Given the description of an element on the screen output the (x, y) to click on. 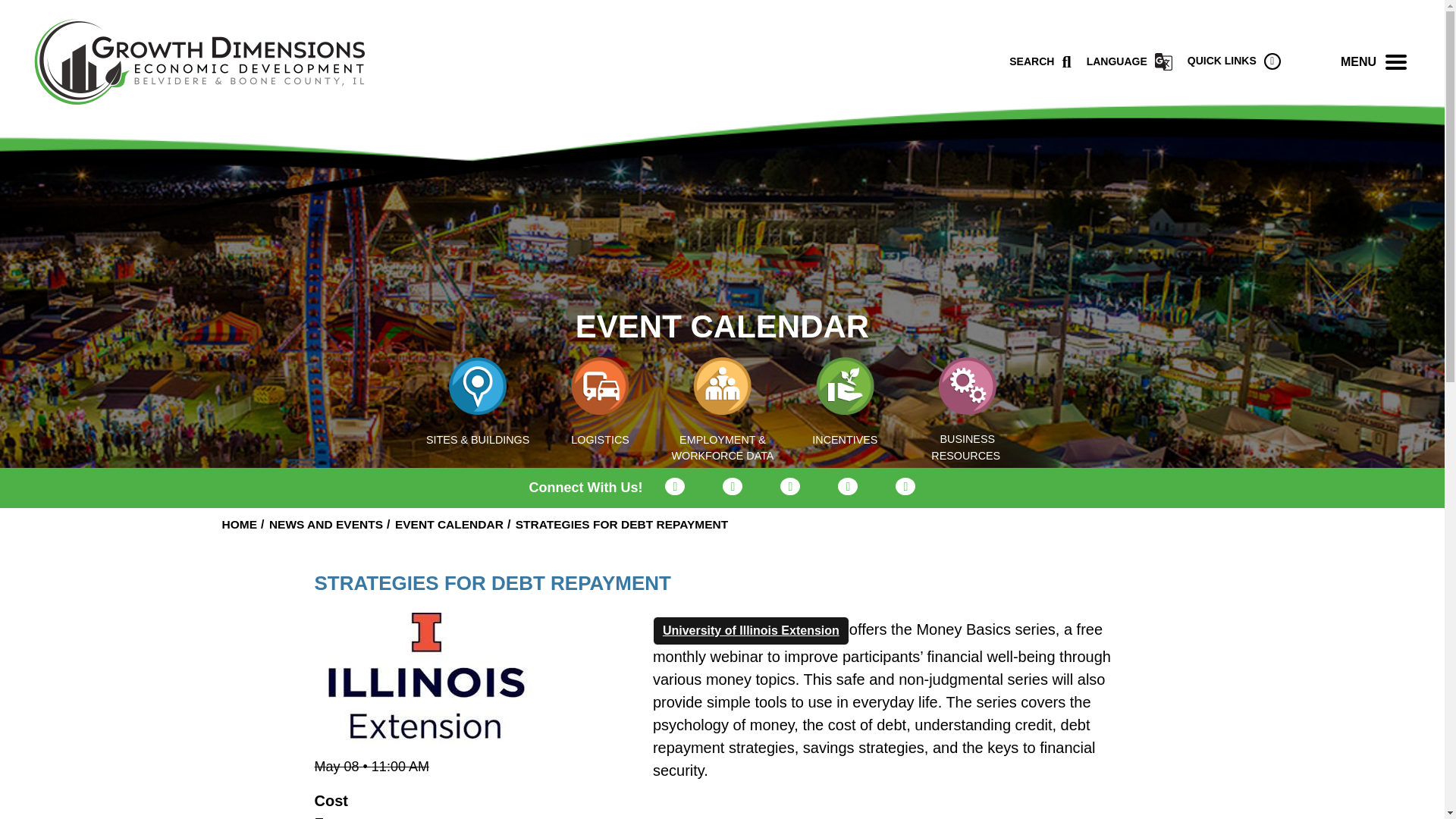
TOGGLE NAVIGATION (1395, 60)
Linkedin (847, 486)
Tiktok (905, 486)
Instagram (789, 486)
Facebook (732, 486)
Twitter (674, 486)
